Given the description of an element on the screen output the (x, y) to click on. 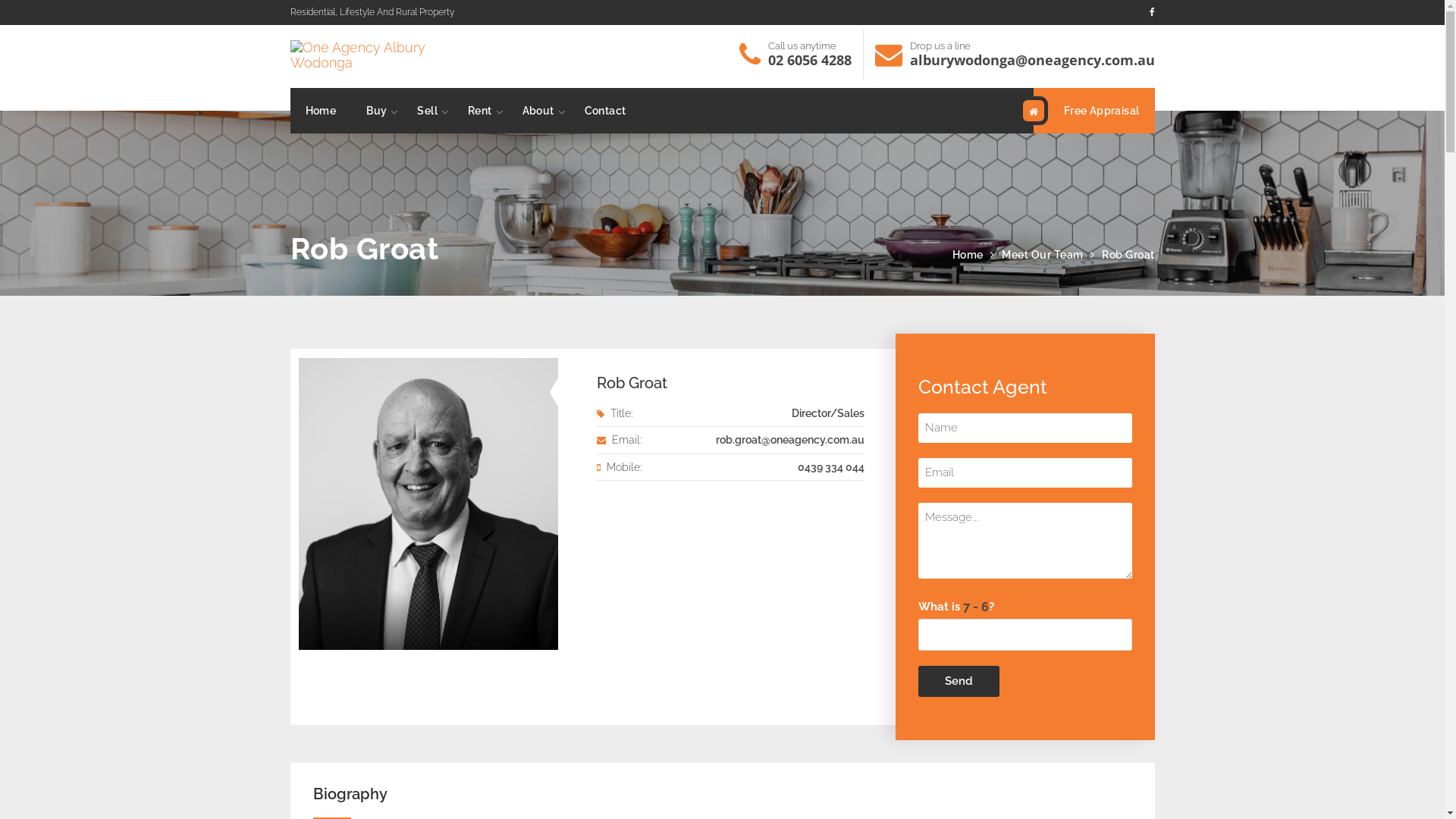
Rent Element type: text (479, 110)
Rob Groat Element type: text (631, 382)
Free Appraisal Element type: text (1093, 110)
02 6056 4288 Element type: text (808, 59)
Meet Our Team Element type: text (1042, 254)
Contact Element type: text (605, 110)
Sell Element type: text (426, 110)
alburywodonga@oneagency.com.au Element type: text (1032, 59)
Buy Element type: text (376, 110)
Rob Groat Element type: text (1127, 254)
About Element type: text (538, 110)
Send Element type: text (957, 680)
Home Element type: text (320, 110)
